Given the description of an element on the screen output the (x, y) to click on. 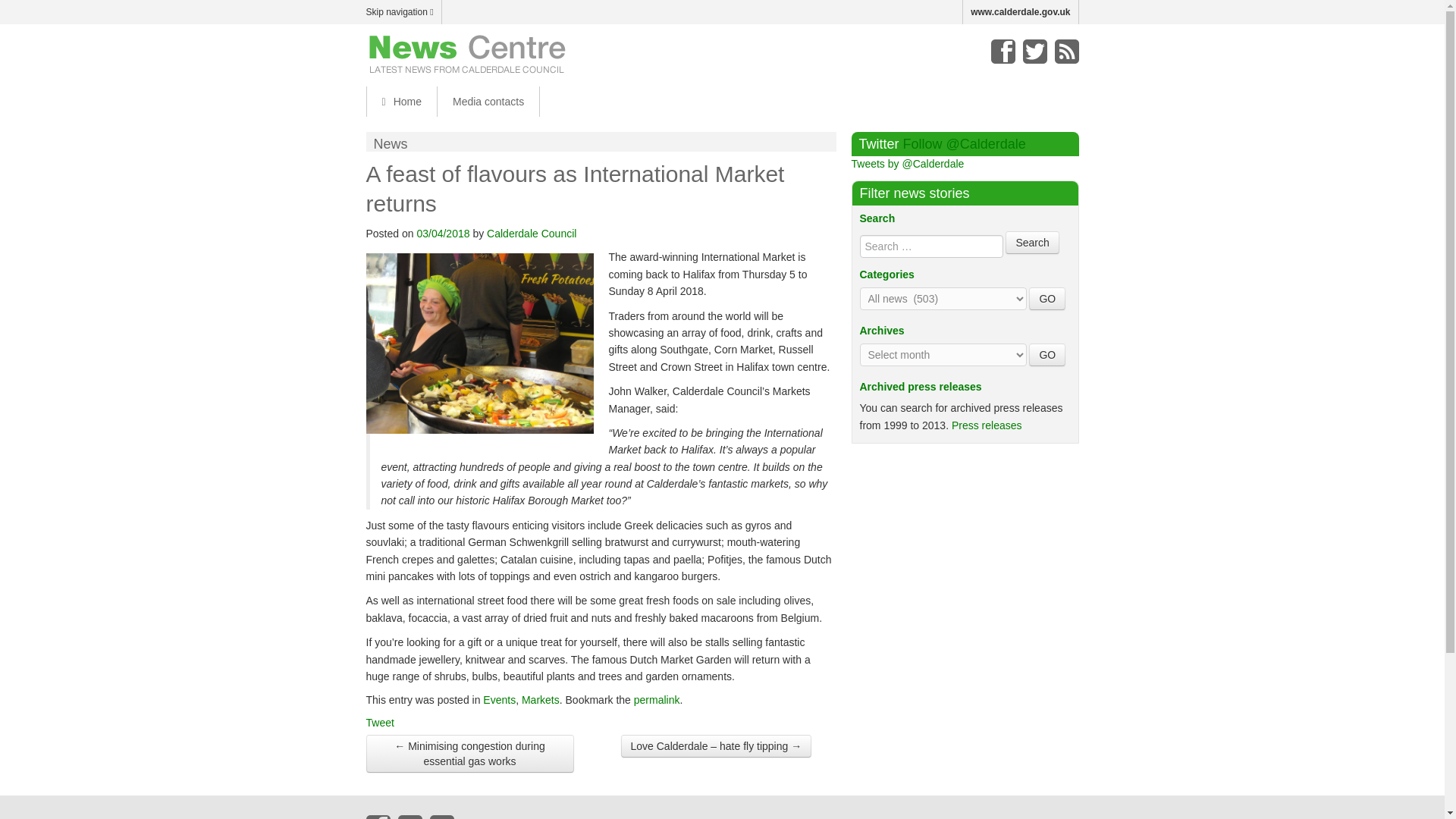
Markets (540, 699)
Facebook (377, 816)
Events (499, 699)
RSS (1066, 51)
Home (400, 101)
Press releases (987, 425)
GO (1047, 354)
Media contacts (489, 101)
2:29 pm (442, 233)
GO (1047, 298)
GO (1047, 298)
Twitter (1034, 51)
Tweet (379, 722)
RSS (440, 816)
Twitter (409, 816)
